Given the description of an element on the screen output the (x, y) to click on. 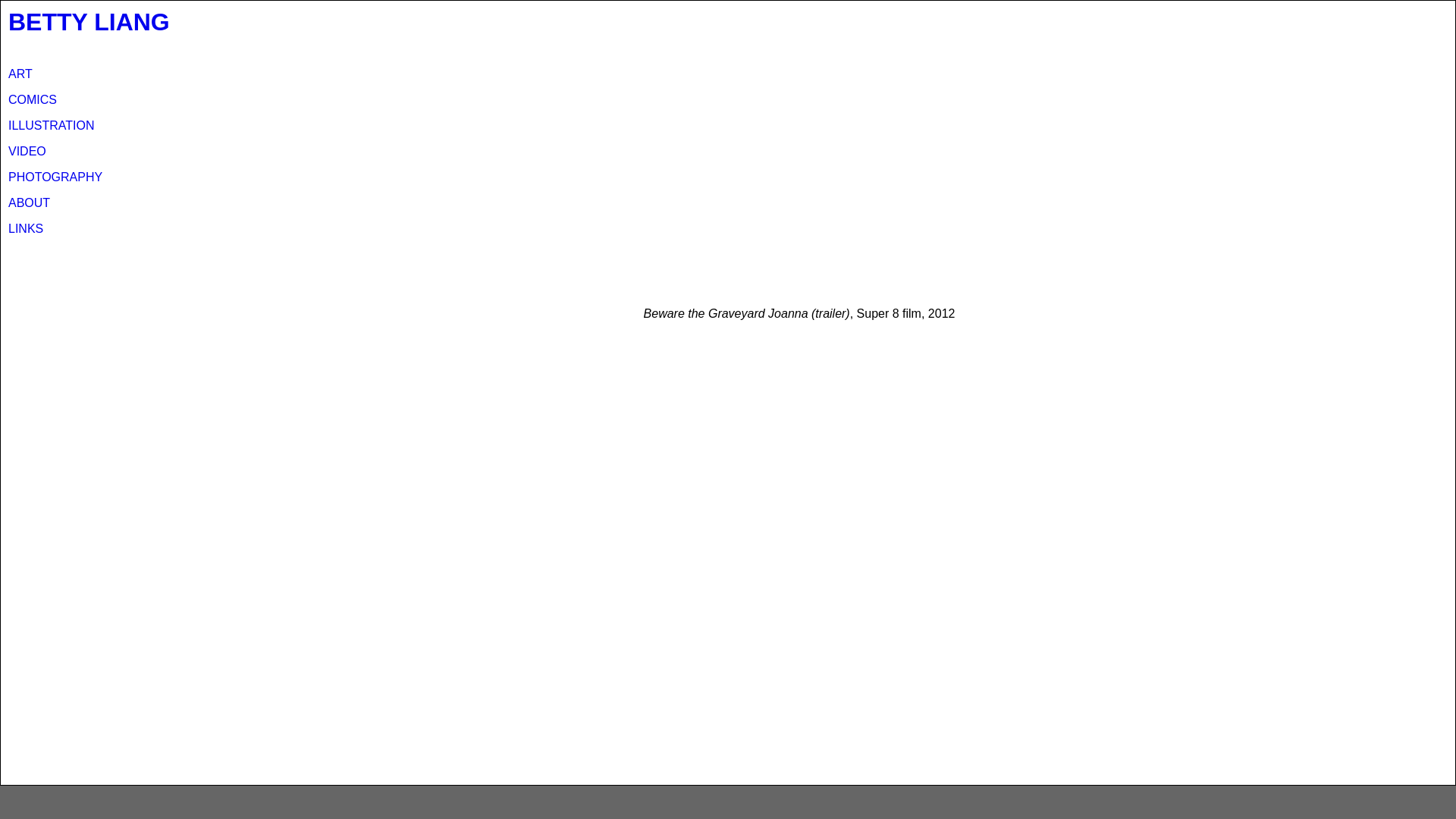
ART Element type: text (20, 73)
COMICS Element type: text (32, 99)
ABOUT Element type: text (29, 202)
PHOTOGRAPHY Element type: text (55, 176)
ILLUSTRATION Element type: text (51, 125)
BETTY LIANG Element type: text (88, 21)
LINKS Element type: text (25, 228)
VIDEO Element type: text (27, 150)
